Given the description of an element on the screen output the (x, y) to click on. 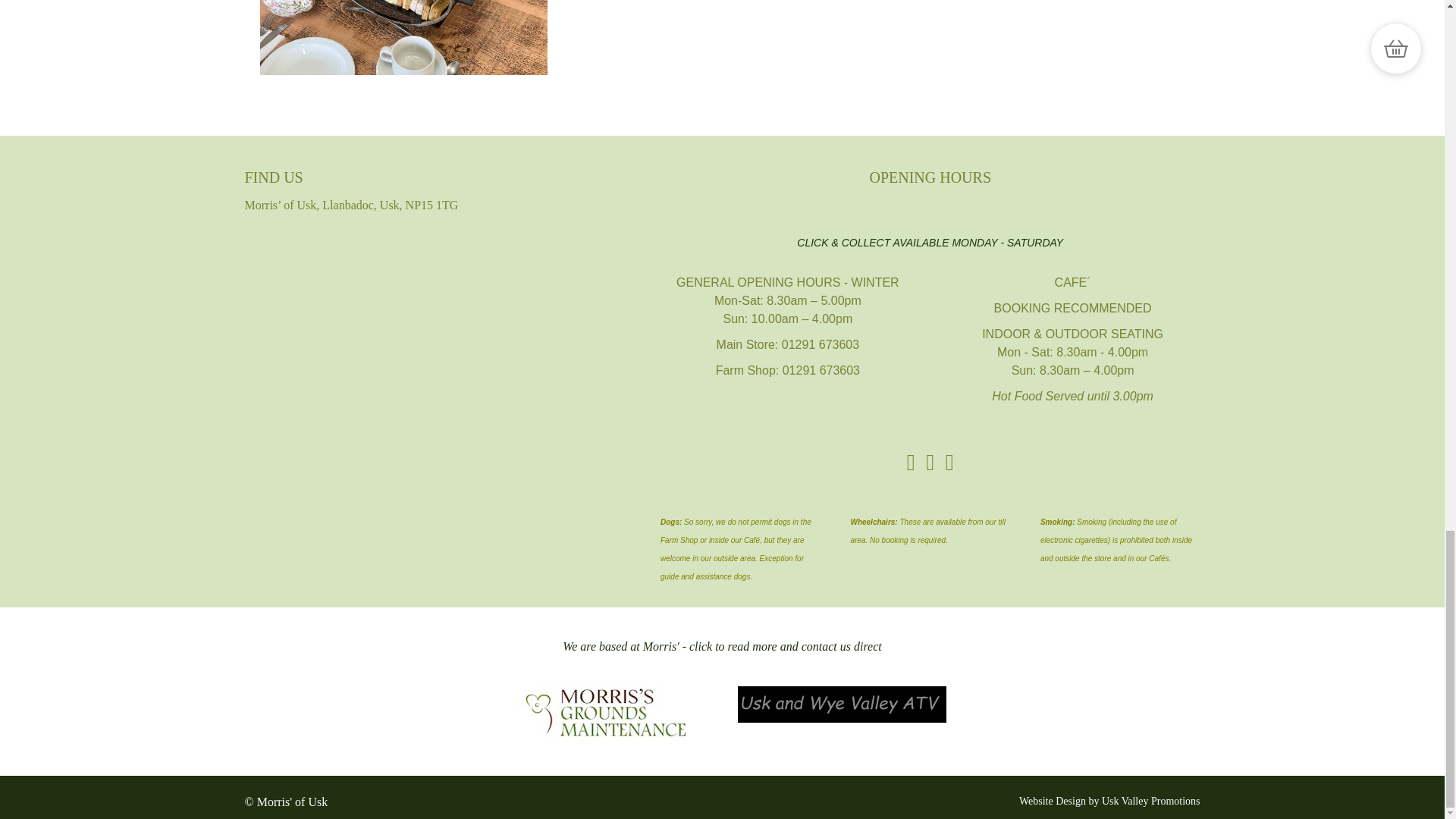
Afternoon Tea 1 (403, 37)
MGM LOGO (603, 707)
Usk and wye valley ATV logo (840, 704)
